Given the description of an element on the screen output the (x, y) to click on. 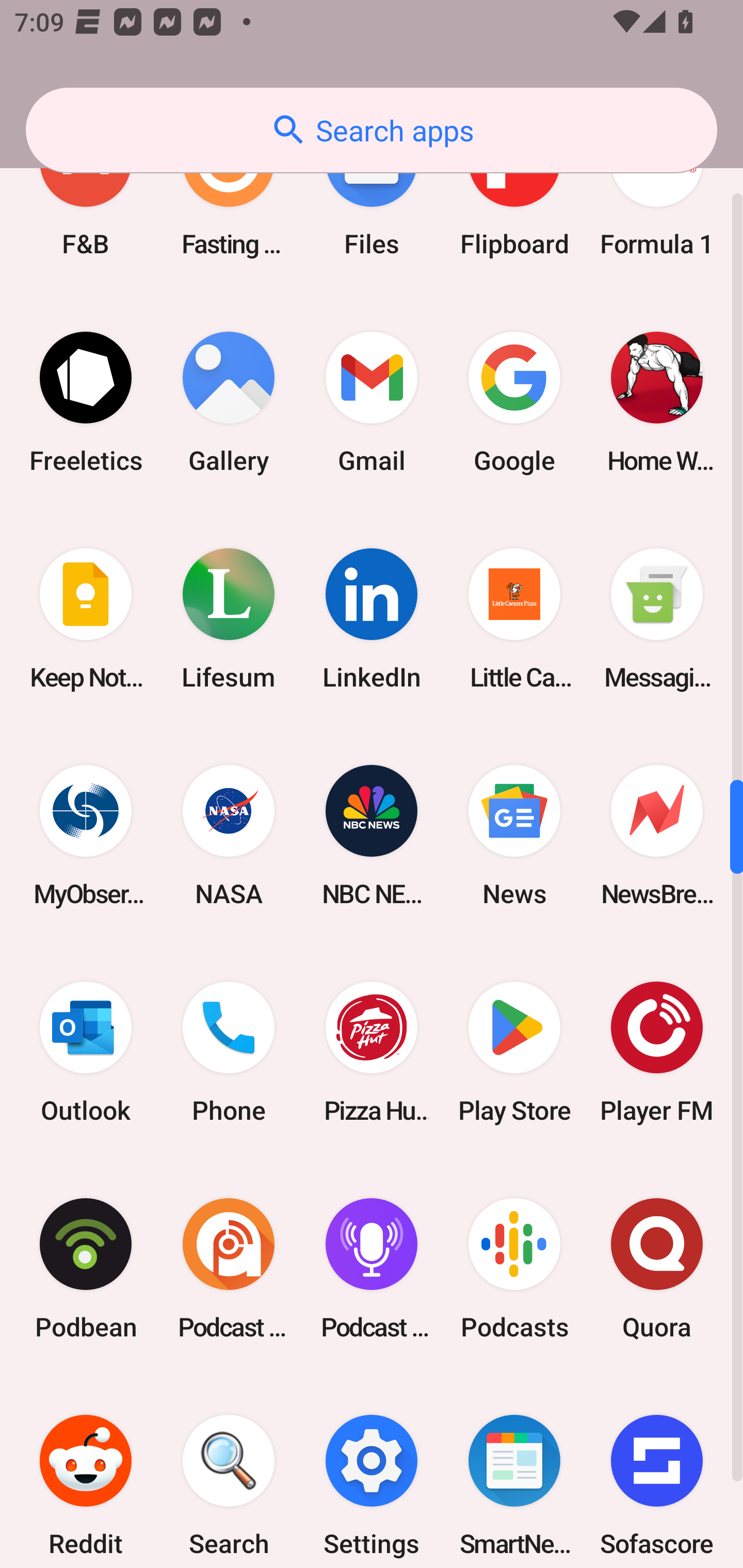
  Search apps (371, 130)
Freeletics (85, 402)
Gallery (228, 402)
Gmail (371, 402)
Google (514, 402)
Home Workout (656, 402)
Keep Notes (85, 619)
Lifesum (228, 619)
LinkedIn (371, 619)
Little Caesars Pizza (514, 619)
Messaging (656, 619)
MyObservatory (85, 835)
NASA (228, 835)
NBC NEWS (371, 835)
News (514, 835)
NewsBreak (656, 835)
Outlook (85, 1051)
Phone (228, 1051)
Pizza Hut HK & Macau (371, 1051)
Play Store (514, 1051)
Player FM (656, 1051)
Podbean (85, 1268)
Podcast Addict (228, 1268)
Podcast Player (371, 1268)
Podcasts (514, 1268)
Quora (656, 1268)
Reddit (85, 1472)
Search (228, 1472)
Settings (371, 1472)
SmartNews (514, 1472)
Sofascore (656, 1472)
